Given the description of an element on the screen output the (x, y) to click on. 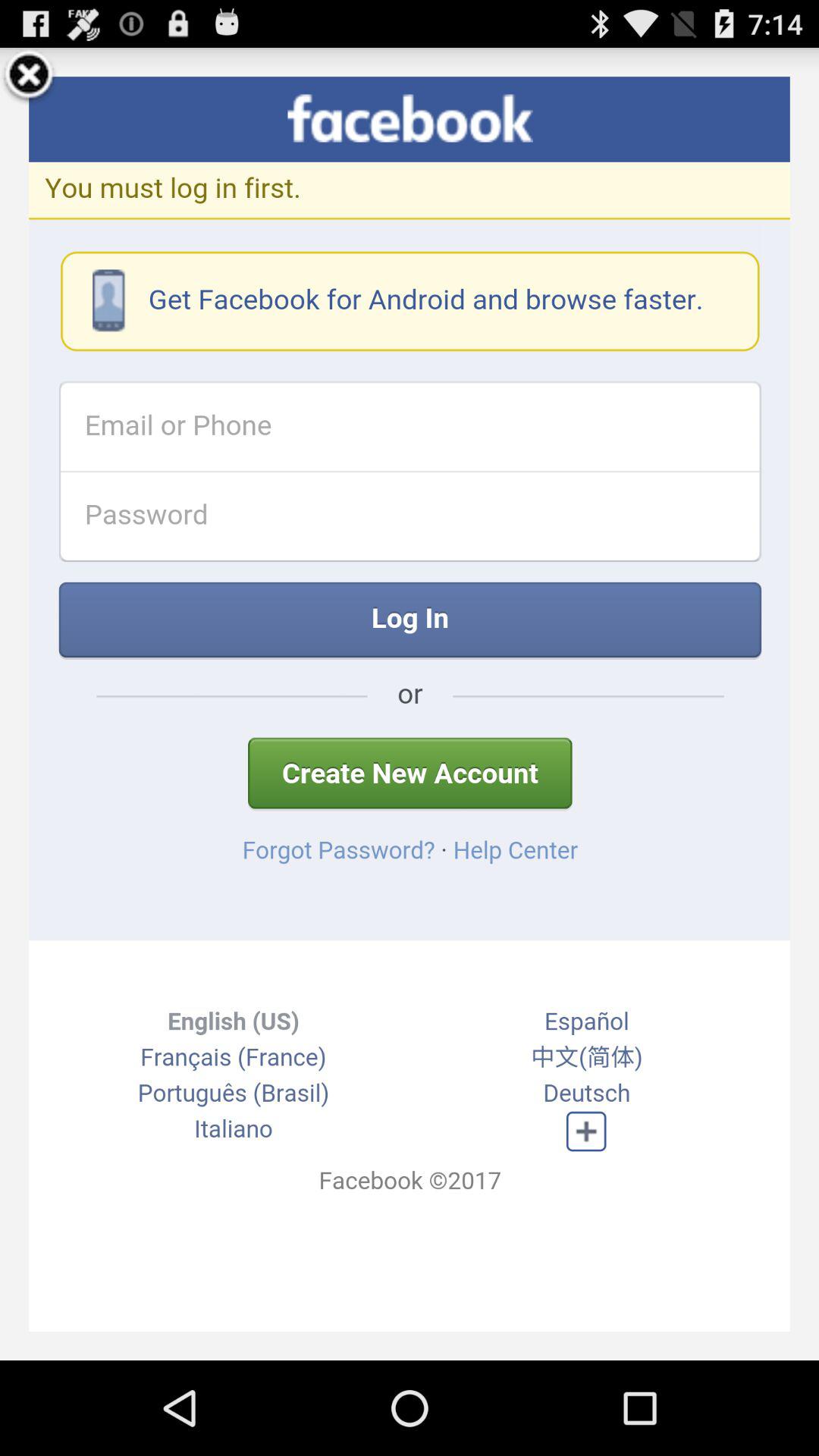
close window (29, 76)
